Given the description of an element on the screen output the (x, y) to click on. 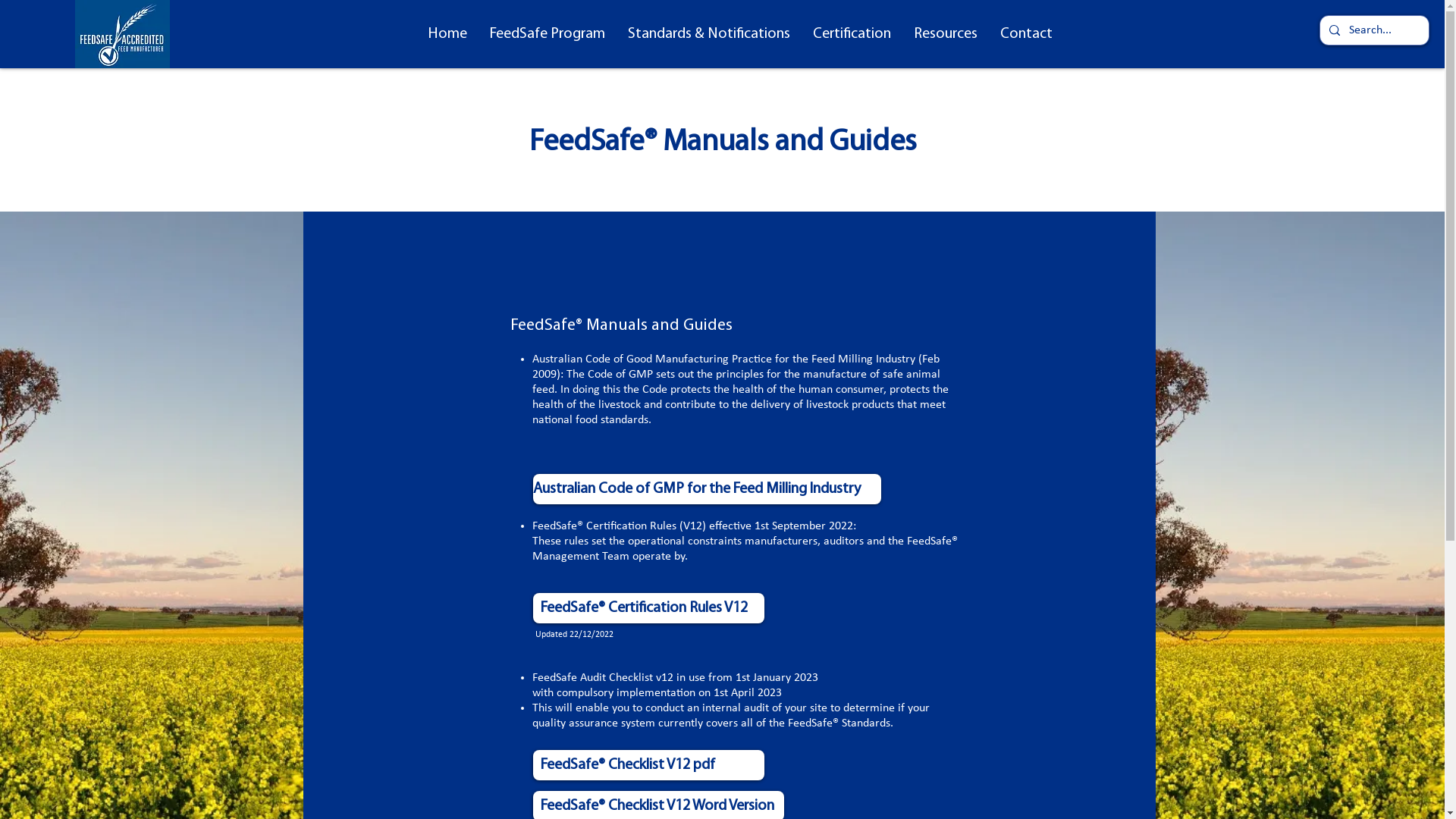
Certification Element type: text (850, 33)
Contact Element type: text (1025, 33)
Home Element type: text (447, 33)
Australian Code of GMP for the Feed Milling Industry Element type: text (707, 488)
Standards & Notifications Element type: text (707, 33)
Resources Element type: text (945, 33)
